Given the description of an element on the screen output the (x, y) to click on. 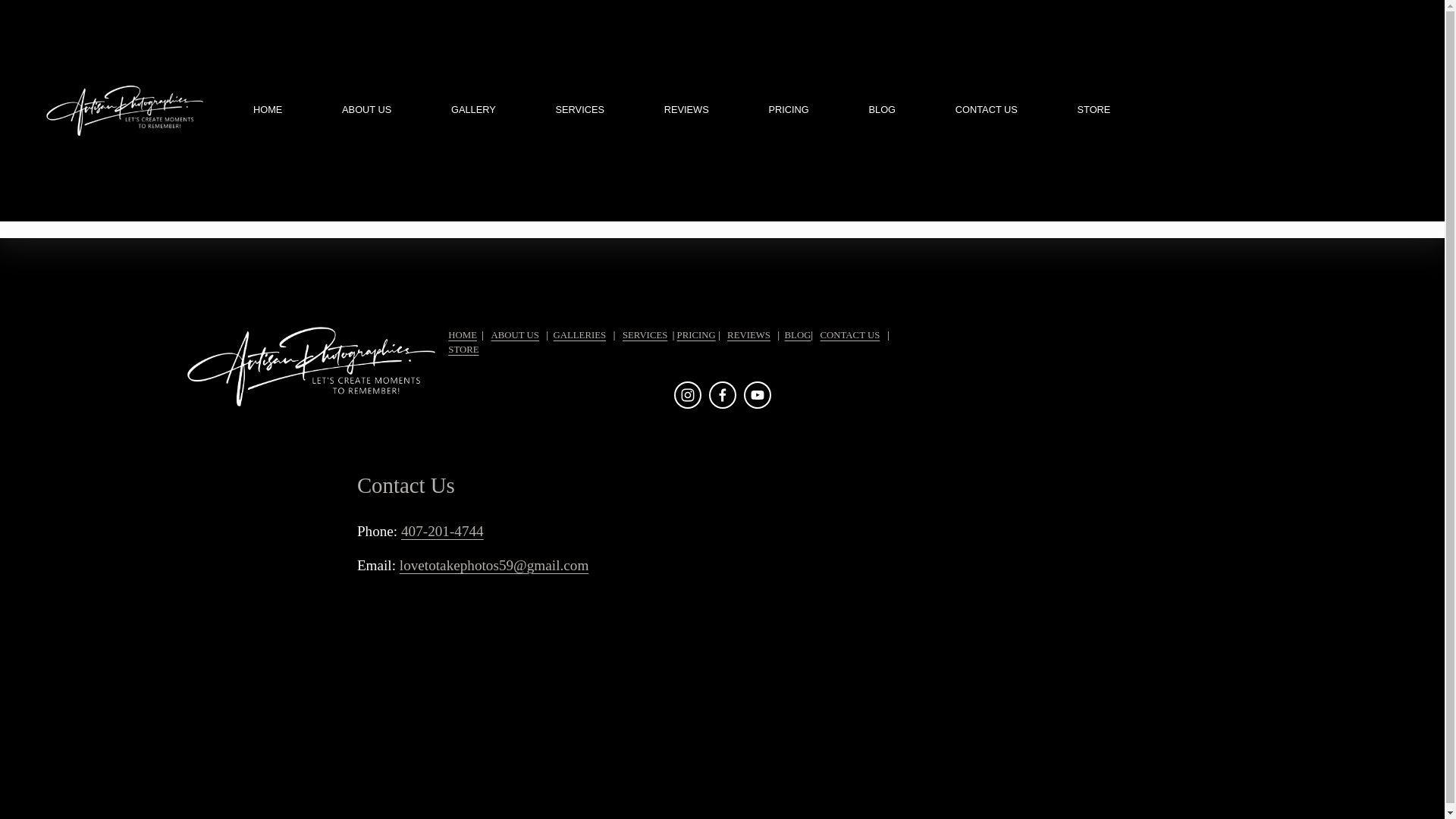
HOME (267, 110)
ABOUT US (366, 110)
SERVICES (580, 110)
GALLERY (473, 110)
BLOG (882, 110)
STORE (1093, 110)
PRICING (788, 110)
REVIEWS (686, 110)
CONTACT US (986, 110)
